Given the description of an element on the screen output the (x, y) to click on. 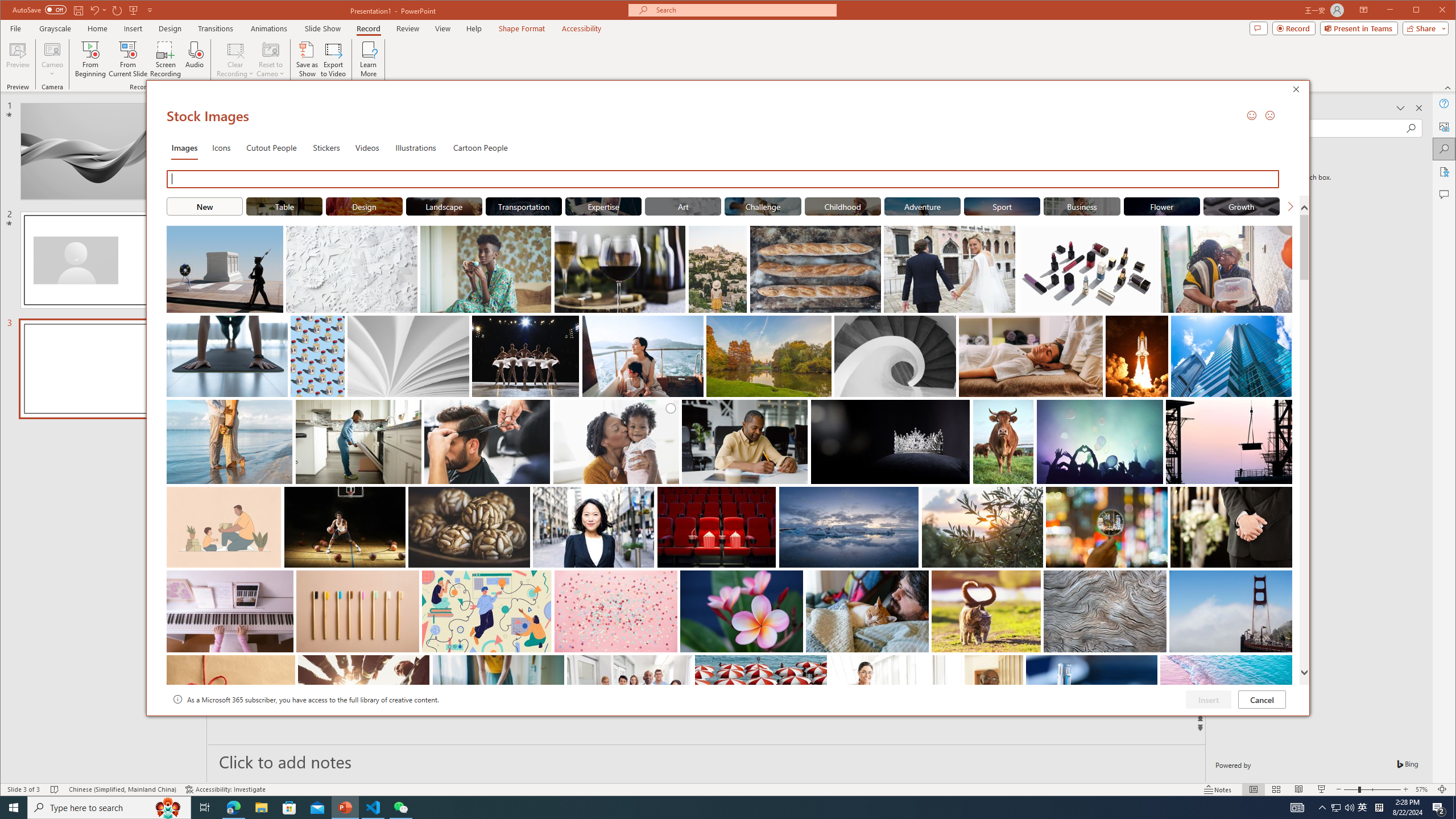
Zoom 57% (1422, 789)
Videos (367, 147)
"Design" Stock Images. (364, 206)
Stickers (326, 147)
Shape Format (521, 28)
"Art" Stock Images. (682, 206)
